Given the description of an element on the screen output the (x, y) to click on. 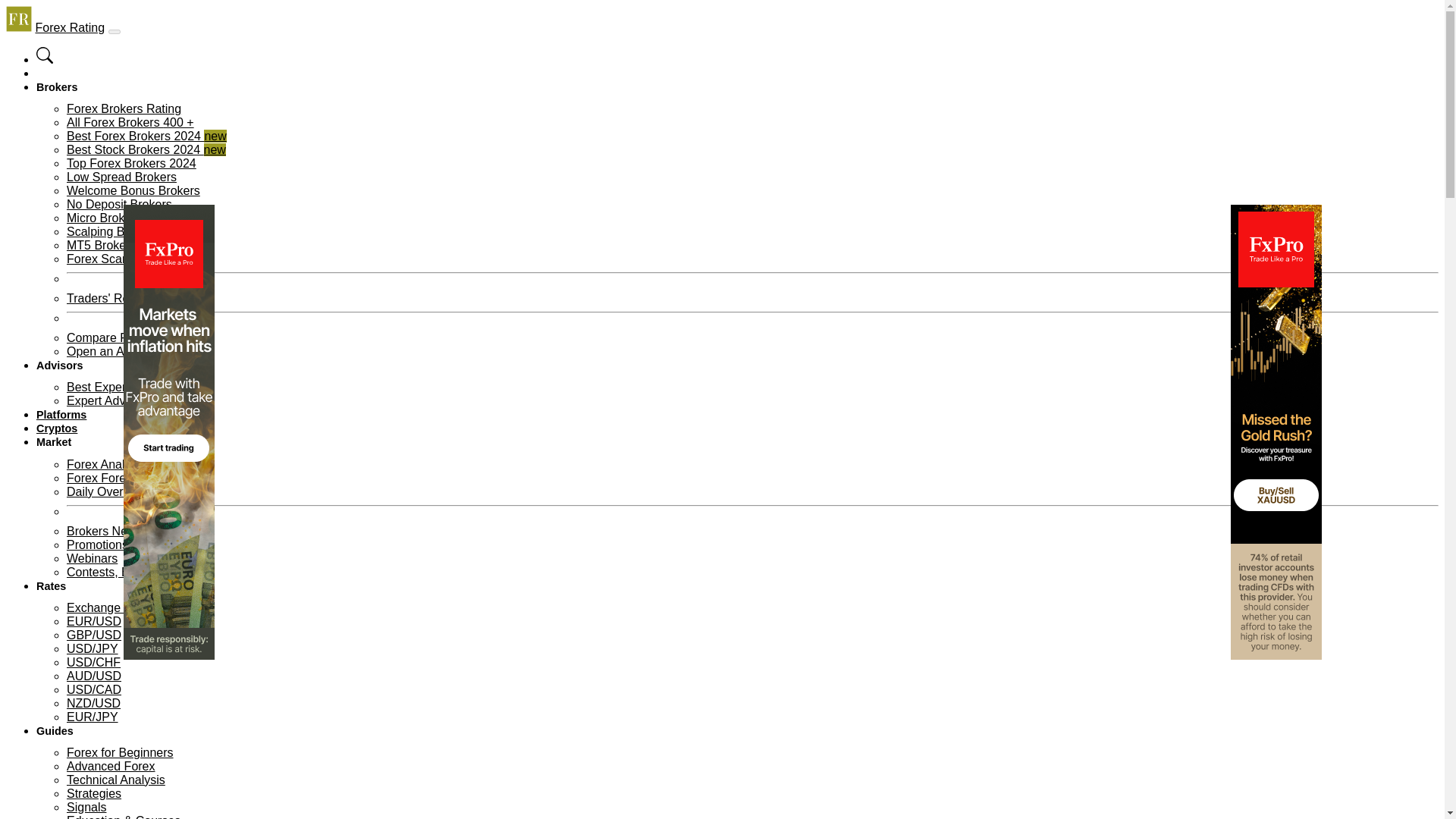
Contests, Expos (110, 571)
Forex Brokers Rating (123, 108)
Cryptos (56, 428)
Welcome Bonus Brokers (133, 190)
No Deposit Brokers (118, 204)
Forex Forecasts (110, 477)
Brokers News (104, 530)
Scalping Brokers (112, 231)
Forex Rating (69, 27)
MT5 Brokers (101, 245)
Expert Advisors Guides (129, 400)
Open an Account (113, 350)
Search (44, 60)
Compare Forex Brokers (131, 337)
Best Stock Brokers 2024 new (145, 149)
